Given the description of an element on the screen output the (x, y) to click on. 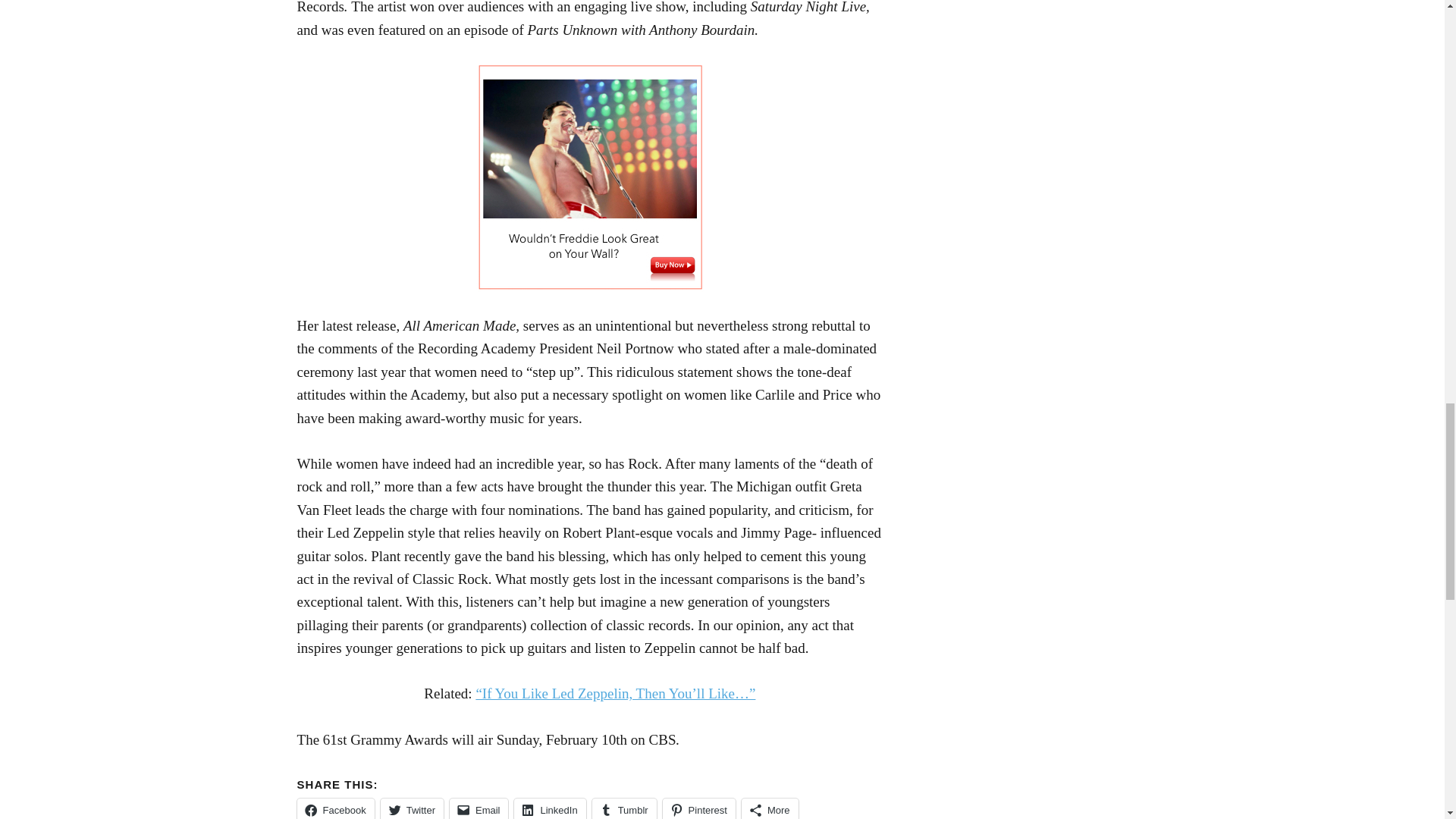
Click to email a link to a friend (478, 808)
Click to share on LinkedIn (549, 808)
Click to share on Pinterest (698, 808)
Click to share on Facebook (335, 808)
Click to share on Tumblr (624, 808)
Click to share on Twitter (412, 808)
